Given the description of an element on the screen output the (x, y) to click on. 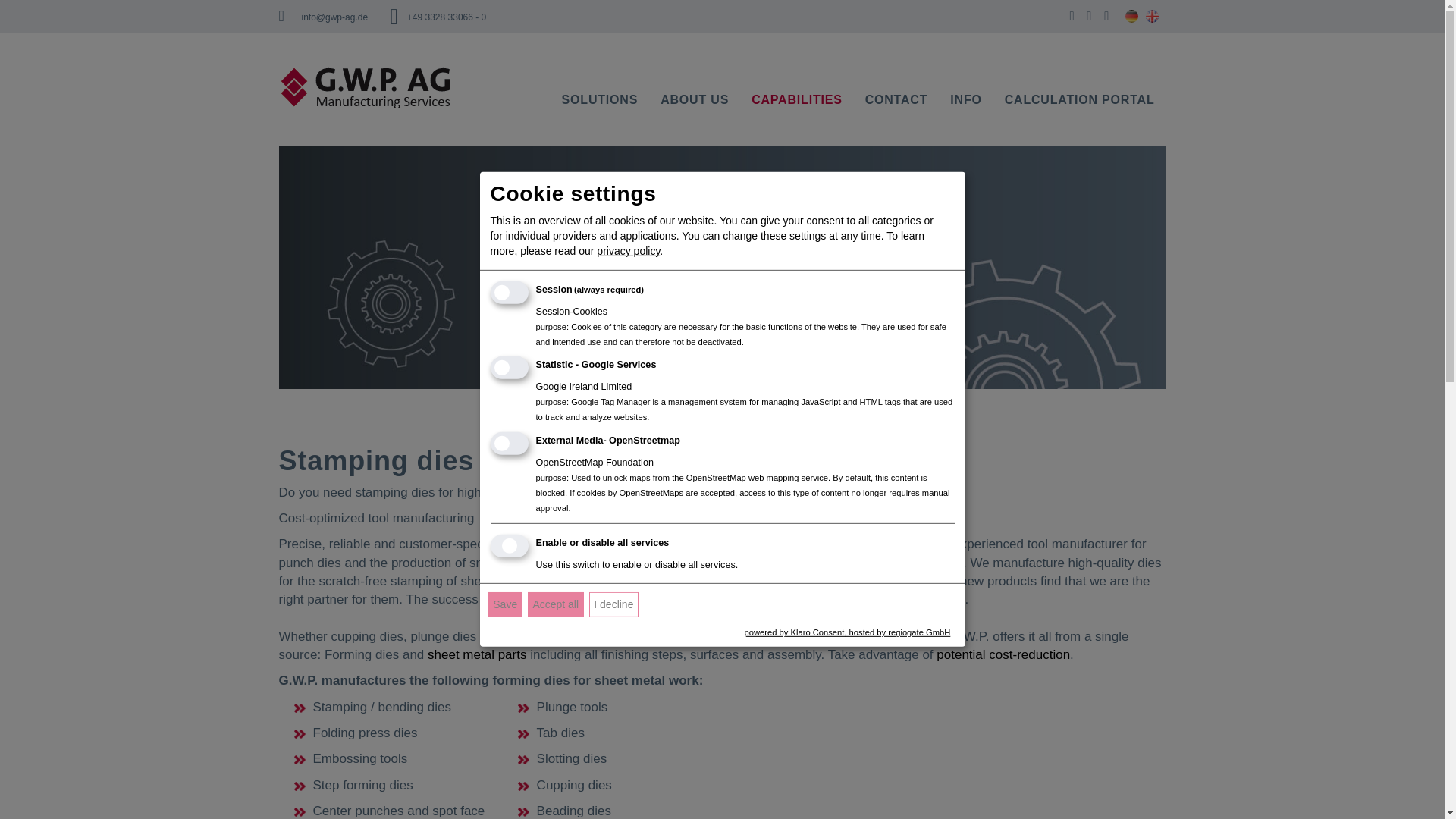
Link zu Facebook (1071, 16)
privacy policy (627, 246)
ABOUT US (694, 100)
SOLUTIONS (599, 100)
Accept all (555, 604)
This services is always required (607, 288)
Englische Version (1150, 15)
Link zu Xing (1106, 16)
I decline (614, 604)
Deutsche Version (1131, 15)
